Given the description of an element on the screen output the (x, y) to click on. 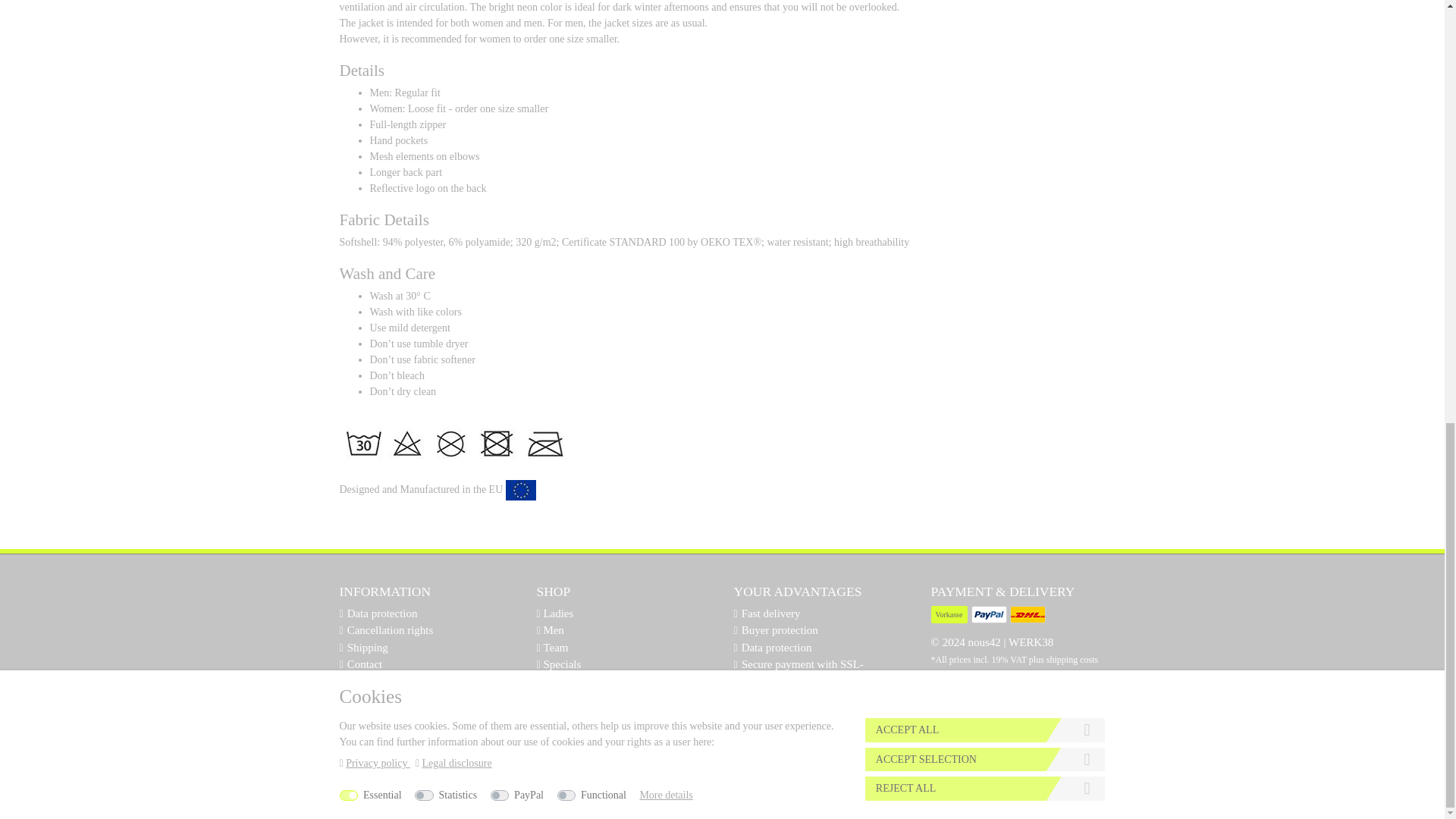
Ladies (556, 613)
Team (554, 647)
Vorkasse (950, 614)
Cancellation rights (390, 630)
Legal disclosure (384, 681)
Shipping (367, 647)
Contact (364, 664)
About us (562, 681)
Specials (560, 664)
Data protection (382, 613)
Men (552, 630)
